Given the description of an element on the screen output the (x, y) to click on. 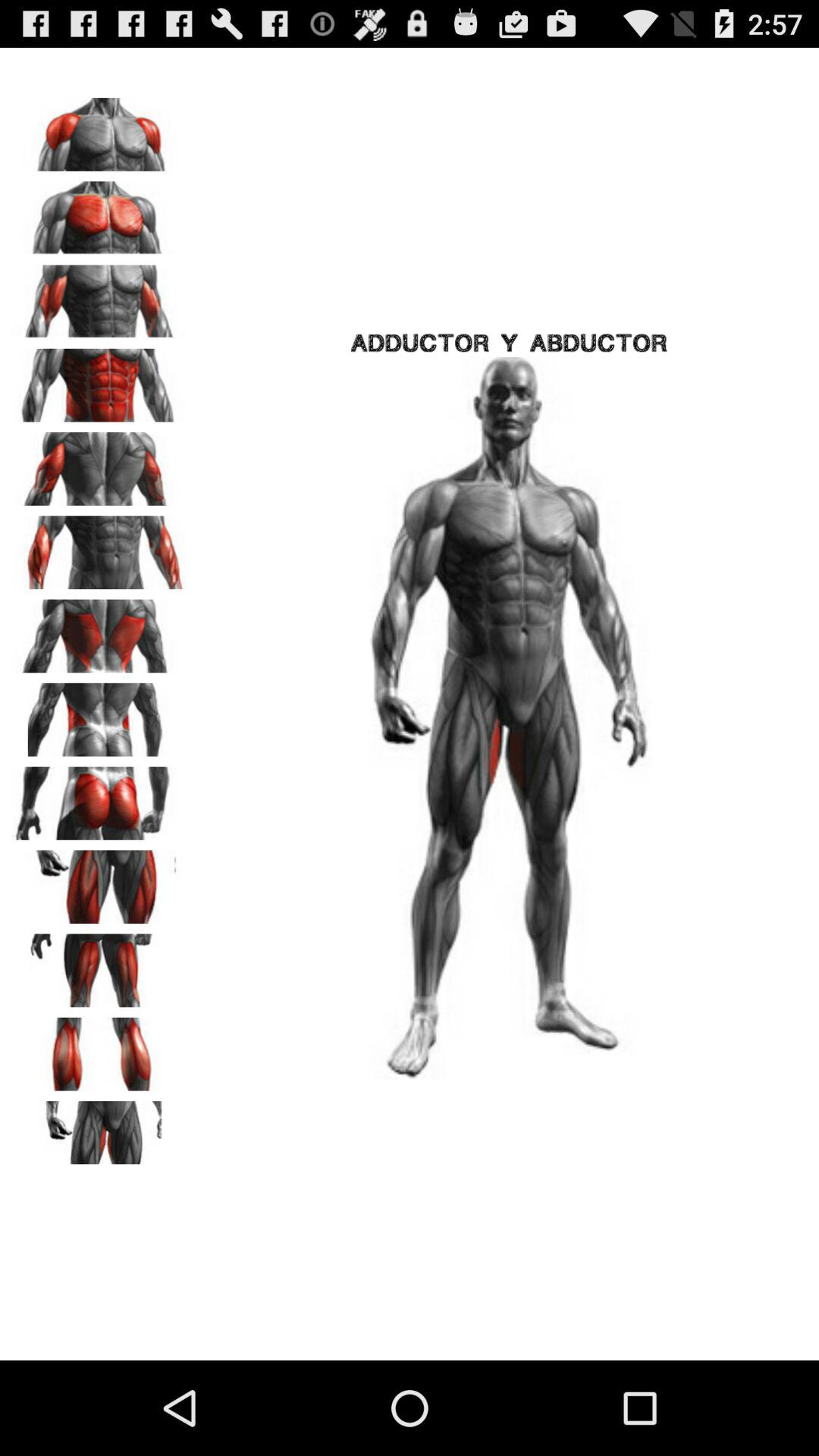
zoom to body part (99, 129)
